Given the description of an element on the screen output the (x, y) to click on. 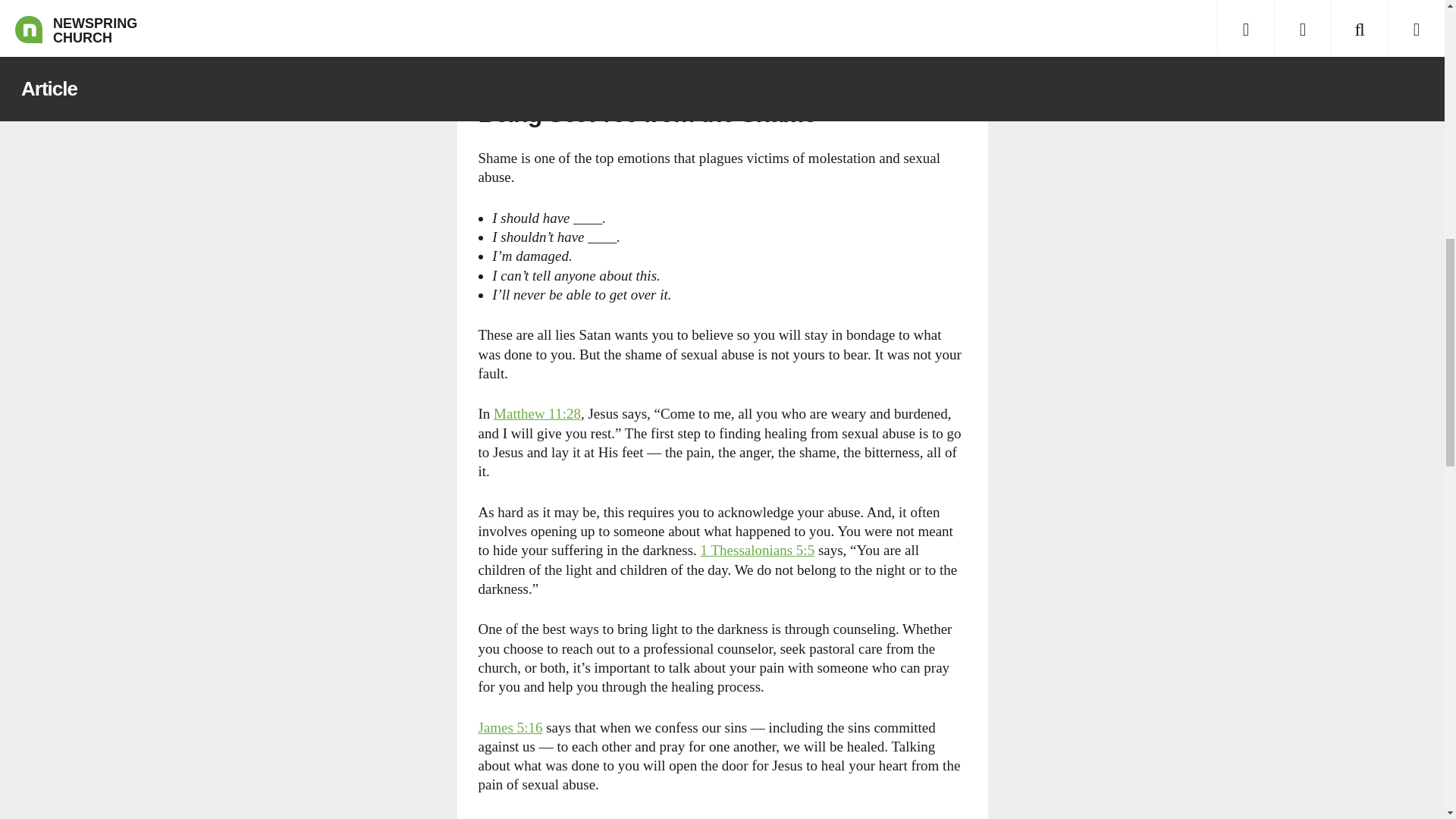
Bible Gateway (525, 0)
Bible Gateway (509, 726)
John 10:10 (525, 0)
Matthew 11:28 (536, 413)
Bible Gateway (536, 413)
1 Thessalonians 5:5 (757, 549)
James 5:16 (509, 726)
Bible Gateway (757, 549)
